Given the description of an element on the screen output the (x, y) to click on. 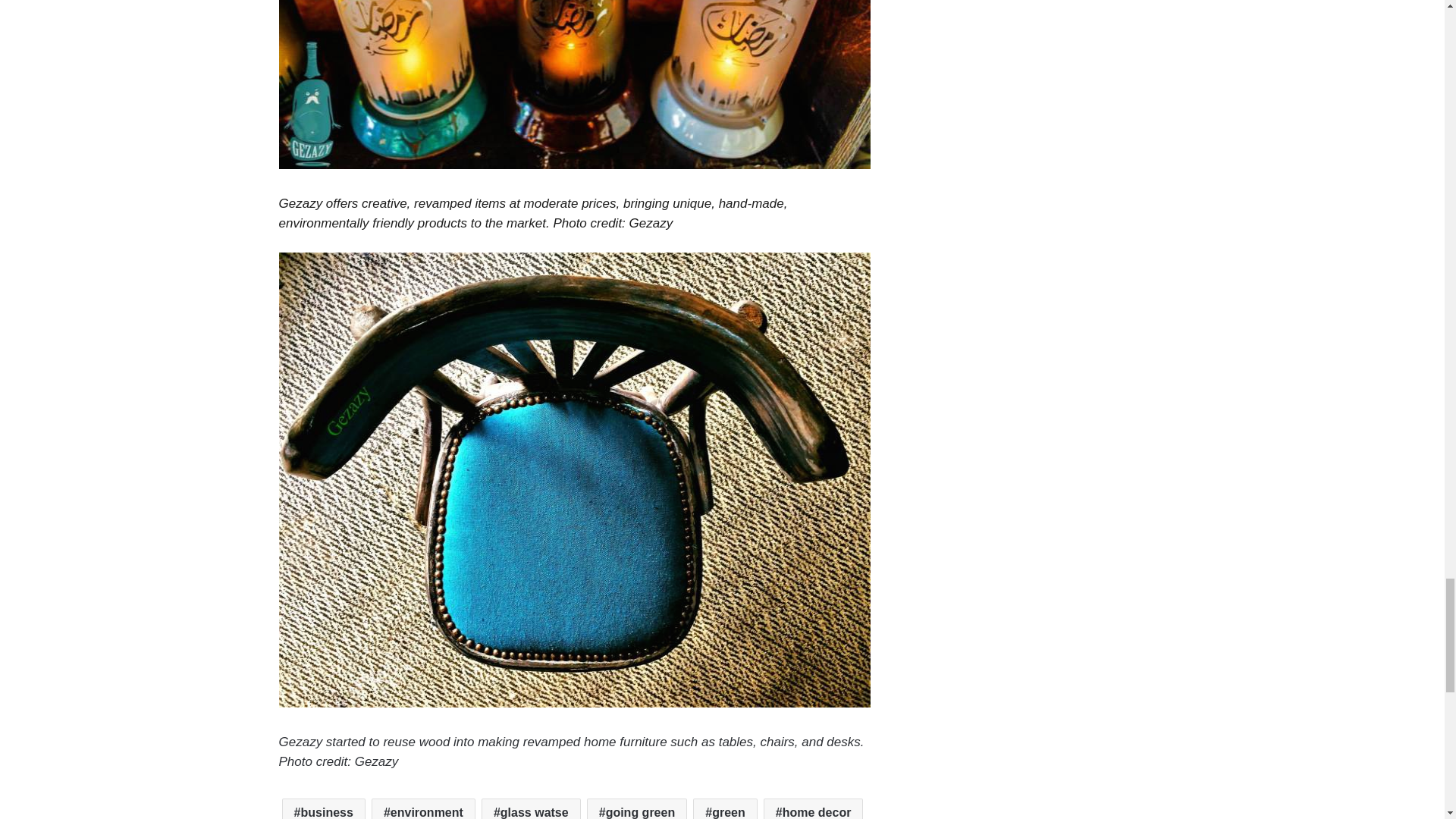
going green (636, 808)
environment (423, 808)
green (725, 808)
business (323, 808)
home decor (812, 808)
glass watse (530, 808)
